Given the description of an element on the screen output the (x, y) to click on. 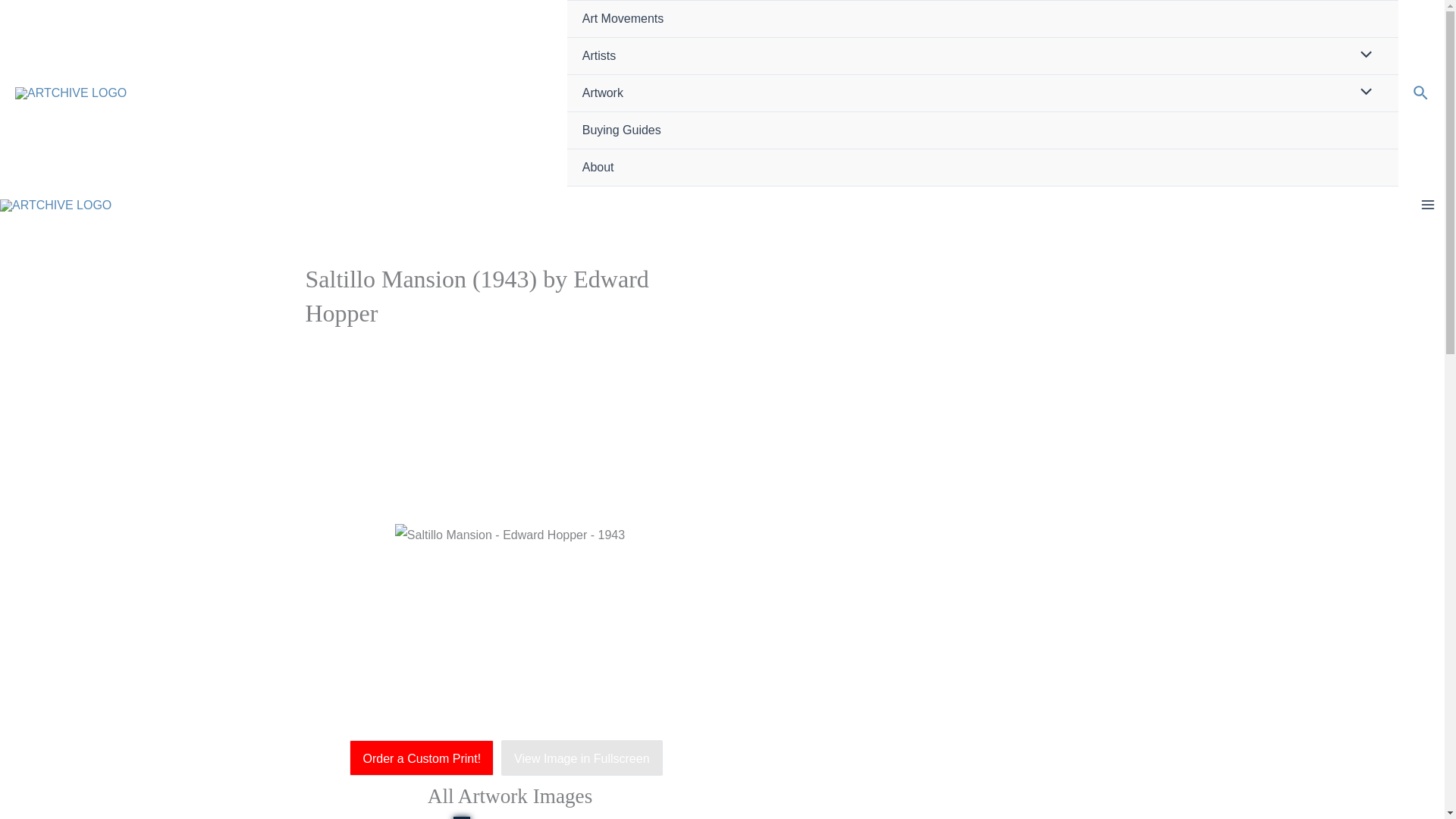
Buying Guides (983, 130)
Art Movements (983, 18)
Artwork (983, 93)
About (983, 167)
Order a Custom Print! (424, 758)
Artists (983, 56)
